Given the description of an element on the screen output the (x, y) to click on. 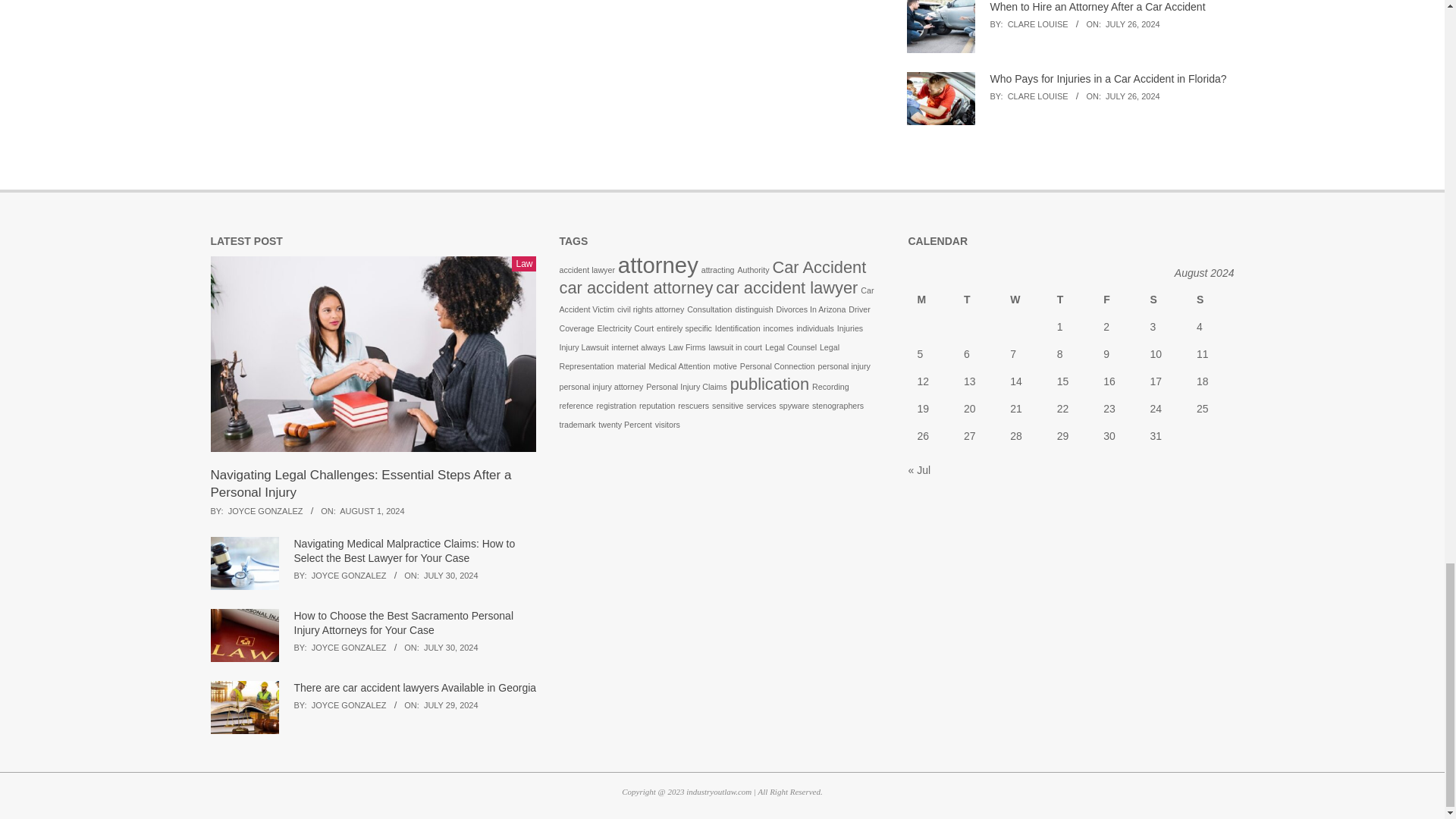
Friday, July 26, 2024, 11:19 am (1132, 23)
Posts by Clare Louise (1037, 23)
Posts by Clare Louise (1037, 95)
Friday, July 26, 2024, 11:19 am (1132, 95)
